Given the description of an element on the screen output the (x, y) to click on. 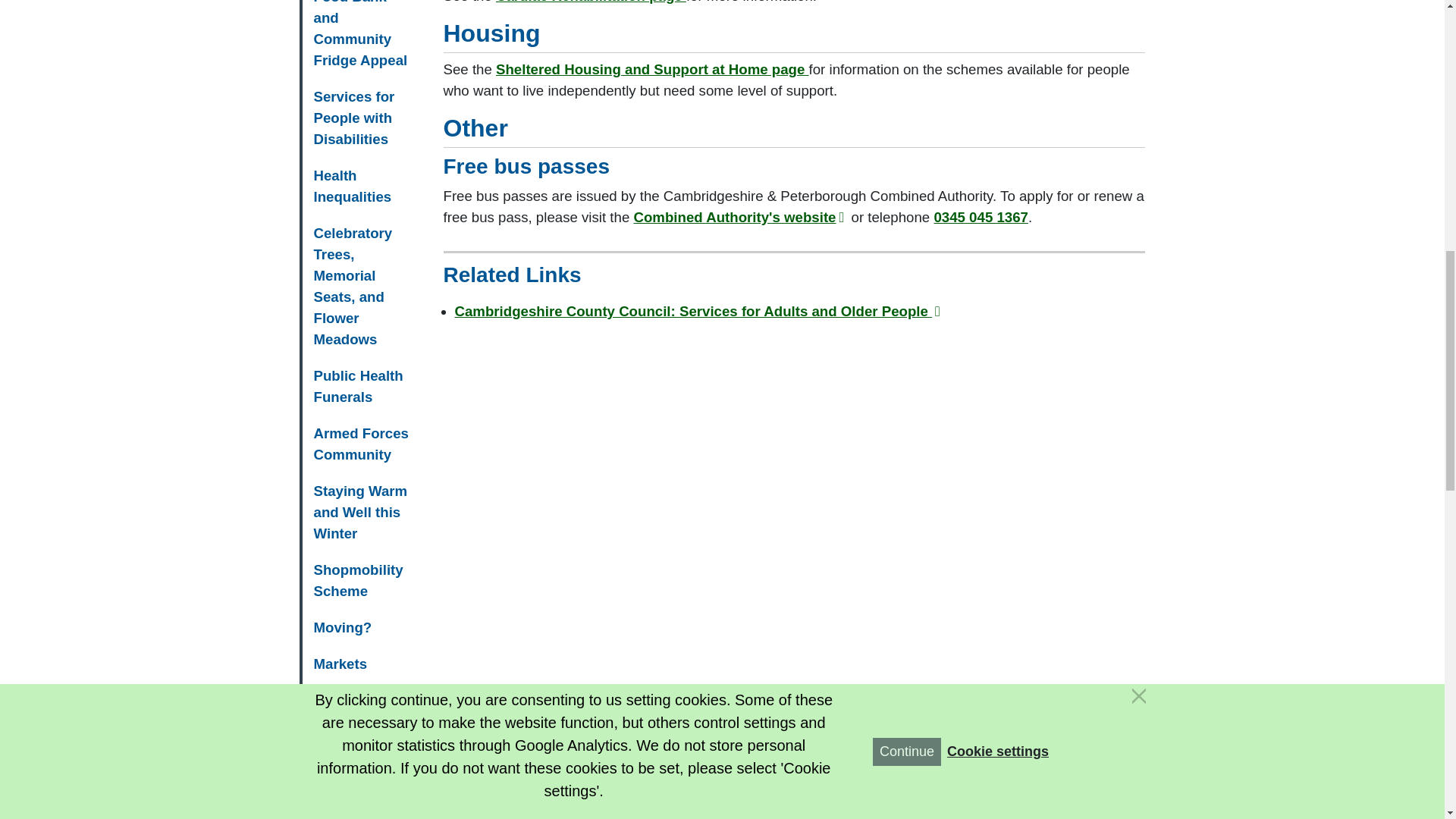
Go to Services for People with Disabilities (360, 118)
Go to Health Inequalities (360, 186)
Go to Food Bank and Community Fridge Appeal (360, 39)
